Given the description of an element on the screen output the (x, y) to click on. 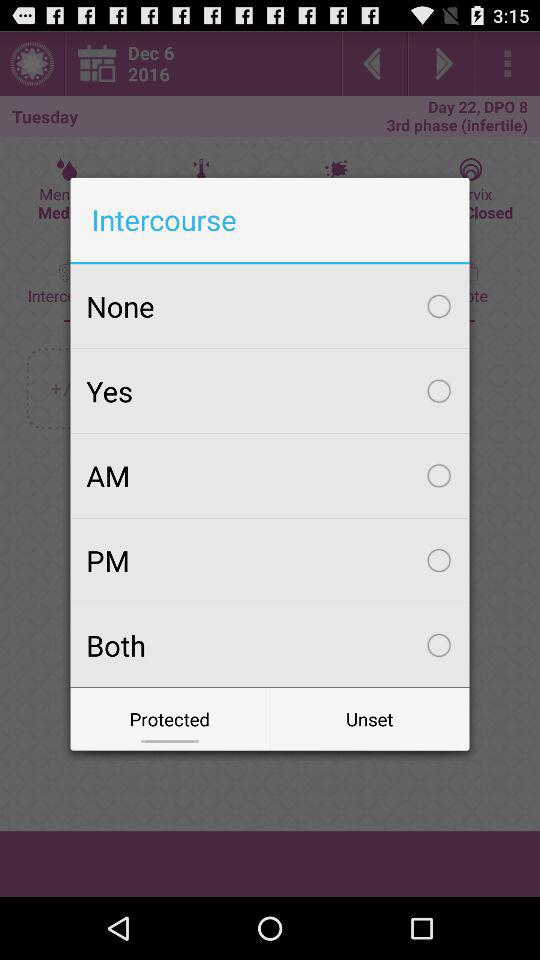
select item above the am checkbox (269, 391)
